Given the description of an element on the screen output the (x, y) to click on. 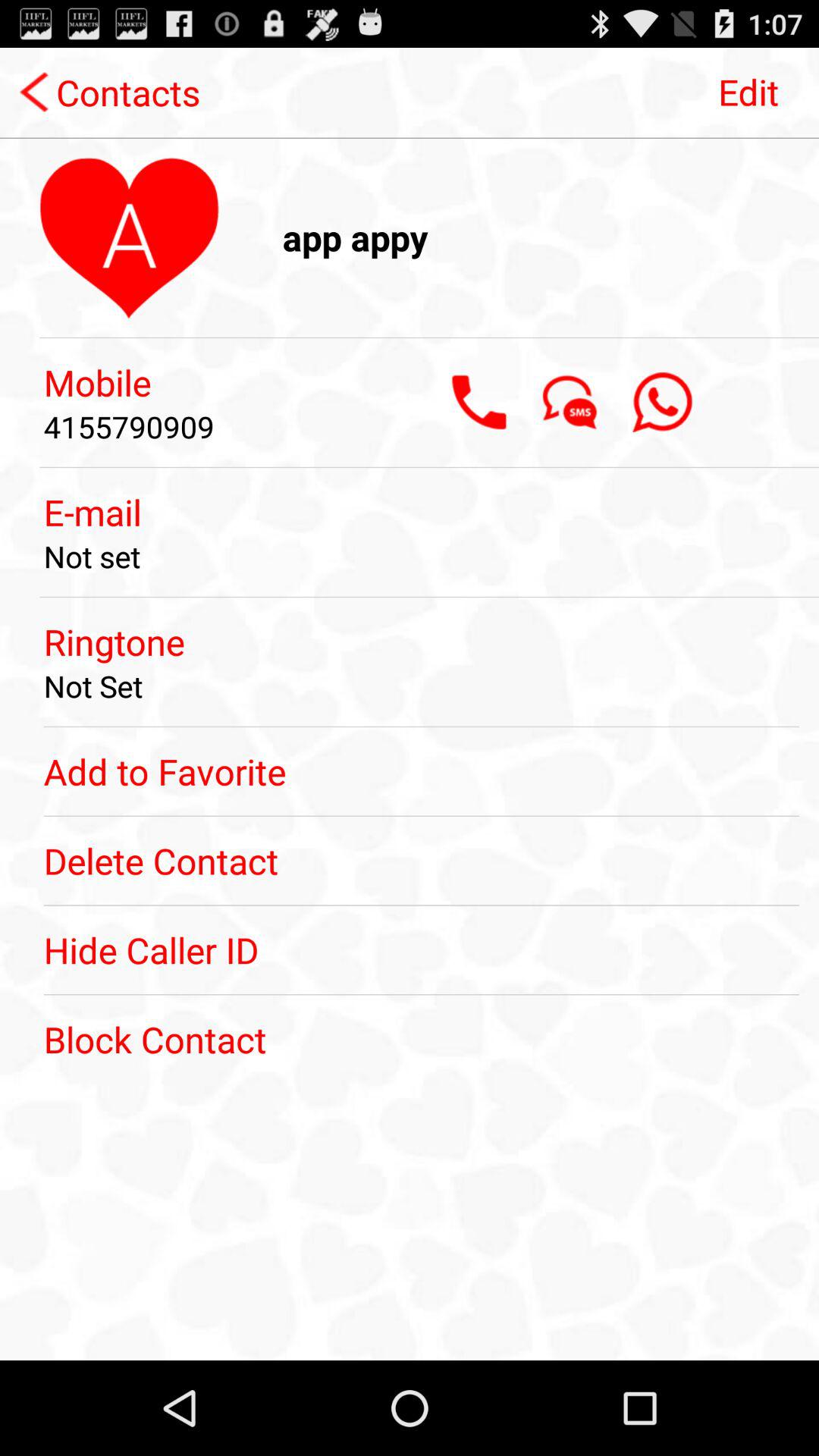
call number button (479, 402)
